Given the description of an element on the screen output the (x, y) to click on. 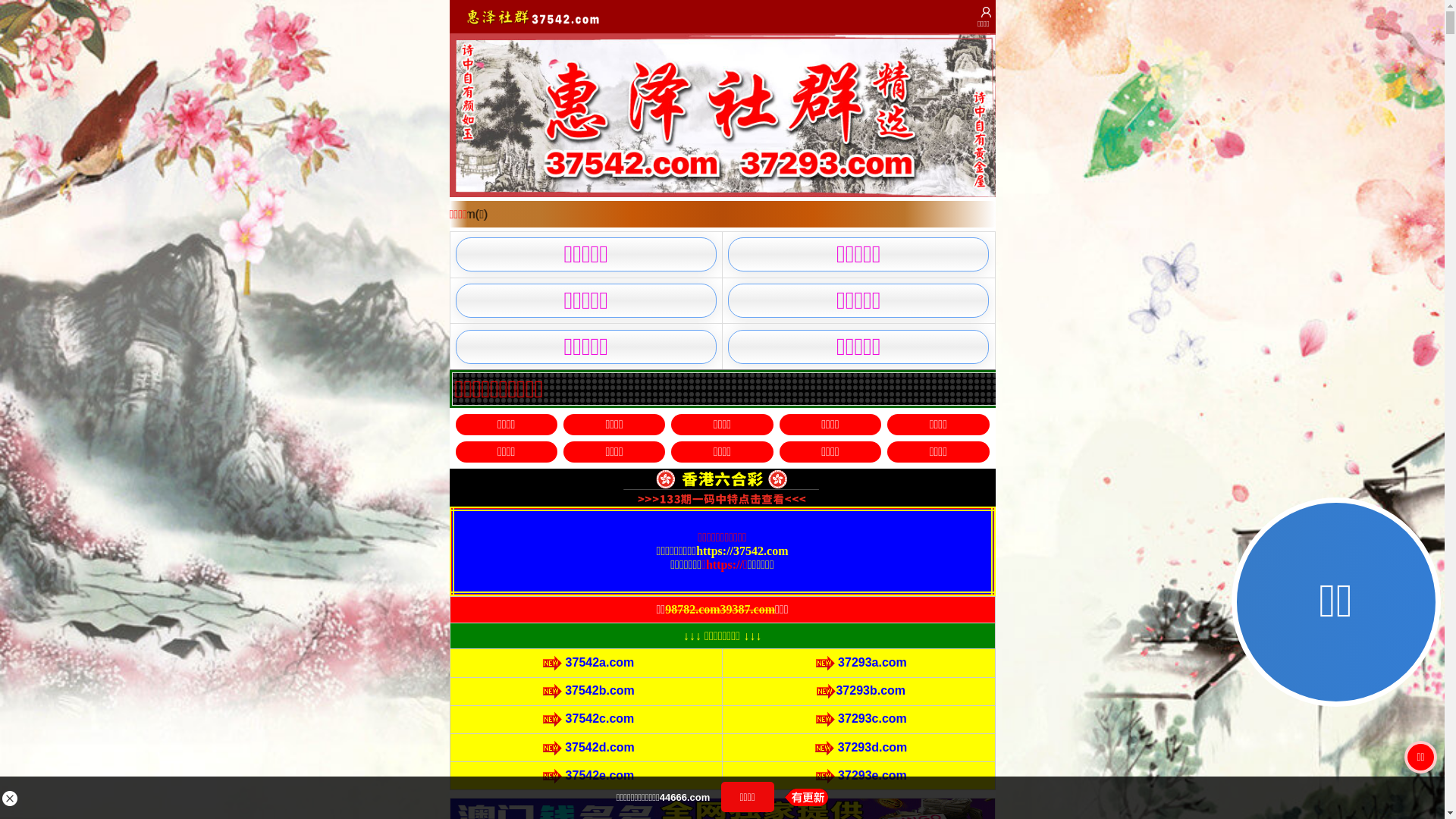
1877.bet Element type: text (786, 514)
9797.cc Element type: text (786, 453)
8898.cc Element type: text (657, 453)
2023.cc Element type: text (786, 544)
8228.cc Element type: text (657, 544)
2050.biz Element type: text (786, 483)
8i.cc Element type: text (657, 483)
U7.cc Element type: text (657, 514)
